Given the description of an element on the screen output the (x, y) to click on. 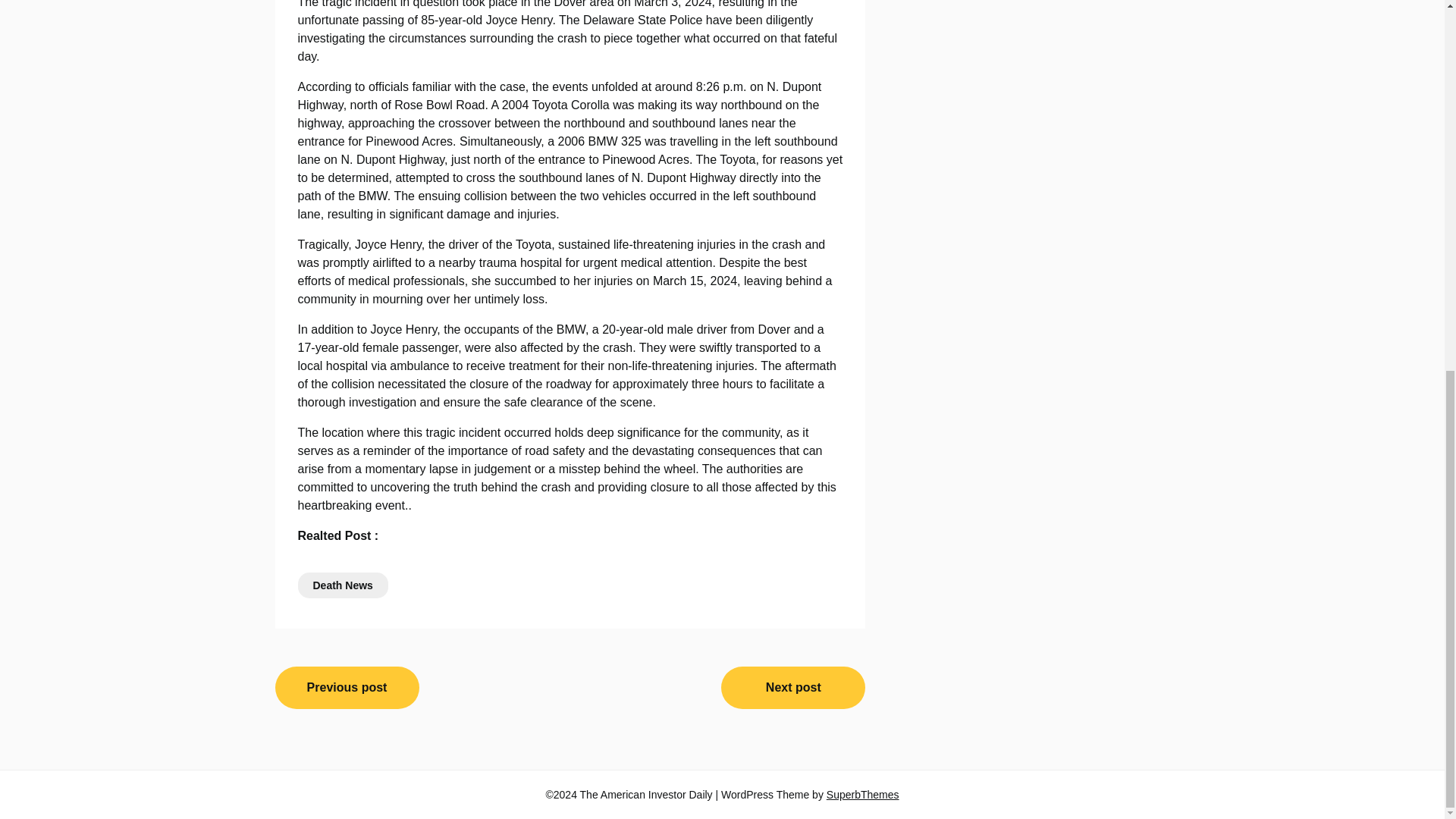
Next post (792, 687)
Previous post (347, 687)
SuperbThemes (863, 794)
Death News (342, 585)
